Given the description of an element on the screen output the (x, y) to click on. 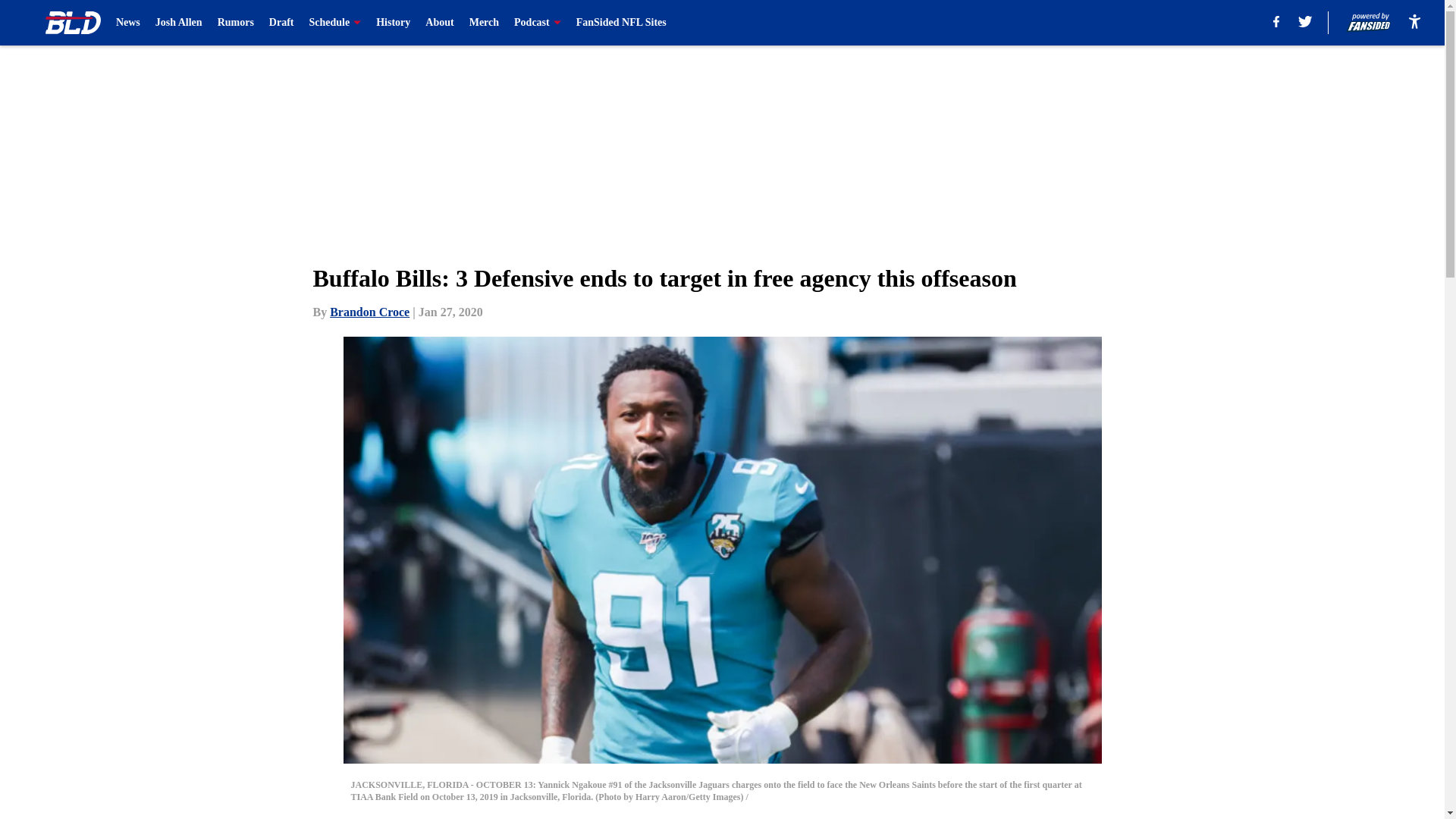
Brandon Croce (369, 311)
Josh Allen (178, 22)
History (392, 22)
News (127, 22)
Rumors (234, 22)
Draft (281, 22)
About (438, 22)
Merch (483, 22)
FanSided NFL Sites (621, 22)
